Given the description of an element on the screen output the (x, y) to click on. 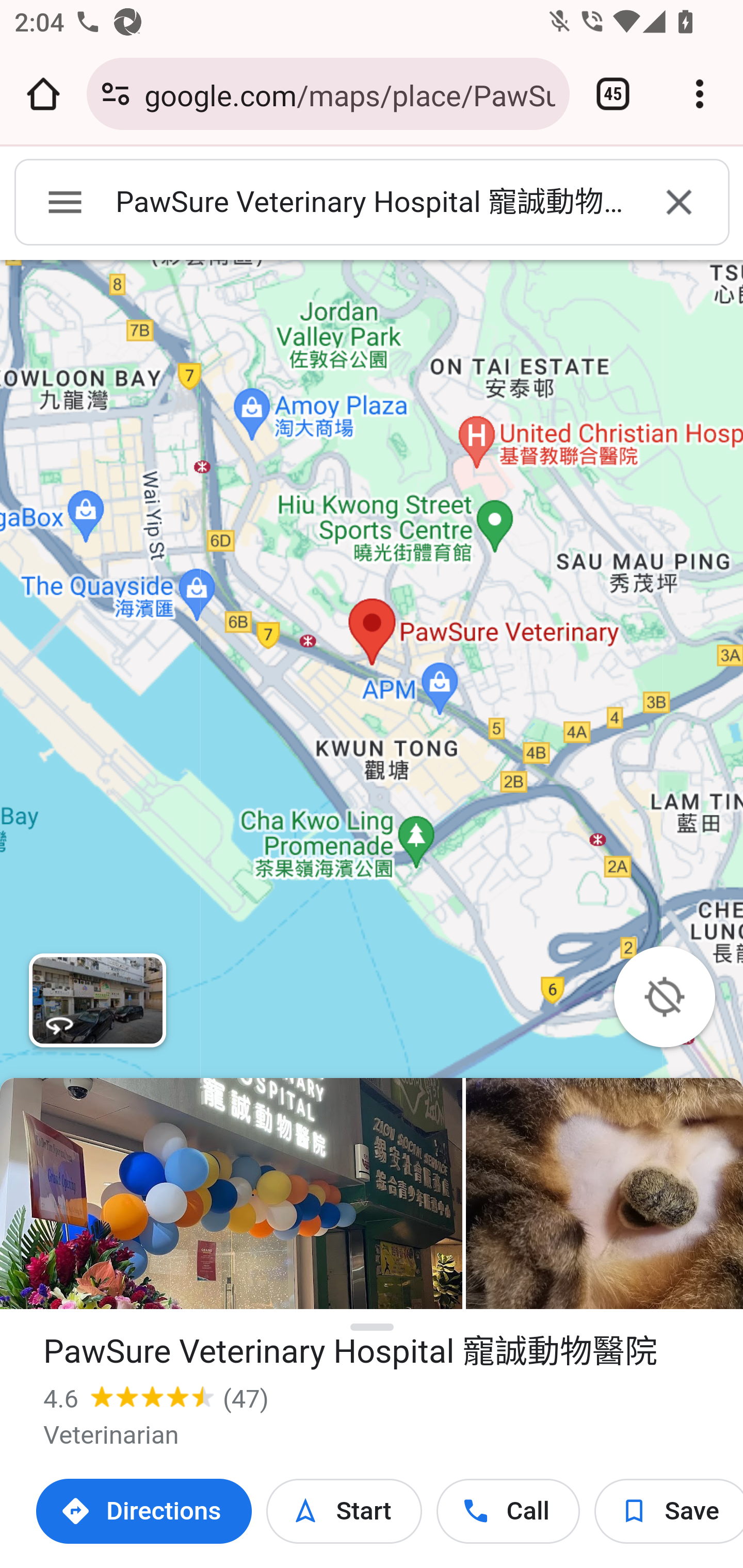
Open the home page (43, 93)
Connection is secure (115, 93)
Switch or close tabs (612, 93)
Customize and control Google Chrome (699, 93)
Photo 1 of 10 (231, 1193)
Photo 2 of 10 (604, 1193)
Show details (372, 1327)
Directions to PawSure Veterinary Hospital 寵誠動物醫院 (144, 1511)
Start (343, 1511)
Call PawSure Veterinary Hospital 寵誠動物醫院  Call (507, 1511)
